Given the description of an element on the screen output the (x, y) to click on. 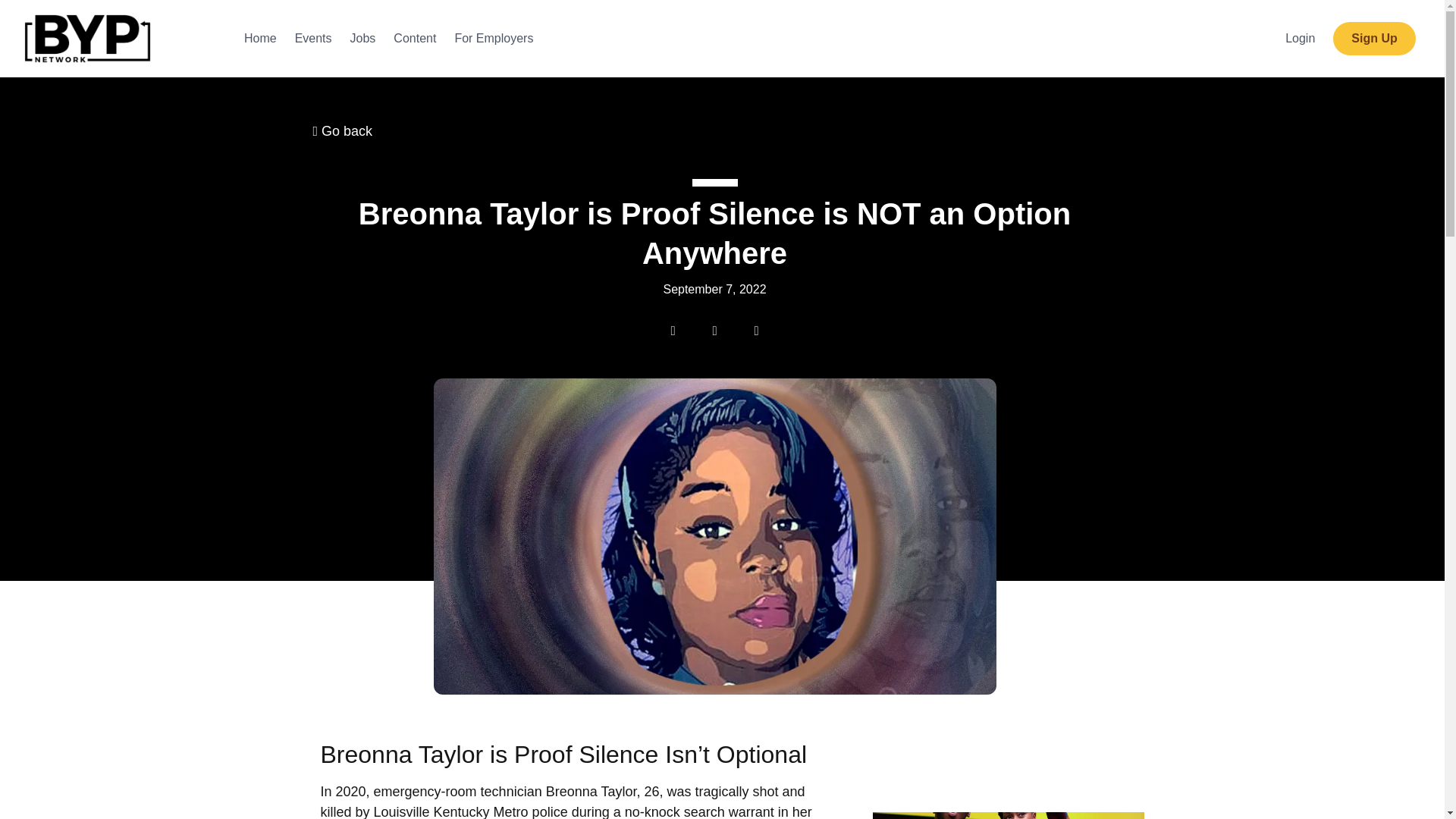
Content (414, 38)
Home (259, 38)
Sign Up (1373, 38)
Login (1299, 38)
Jobs (362, 38)
Sign Up (1374, 38)
Events (312, 38)
For Employers (493, 38)
